Given the description of an element on the screen output the (x, y) to click on. 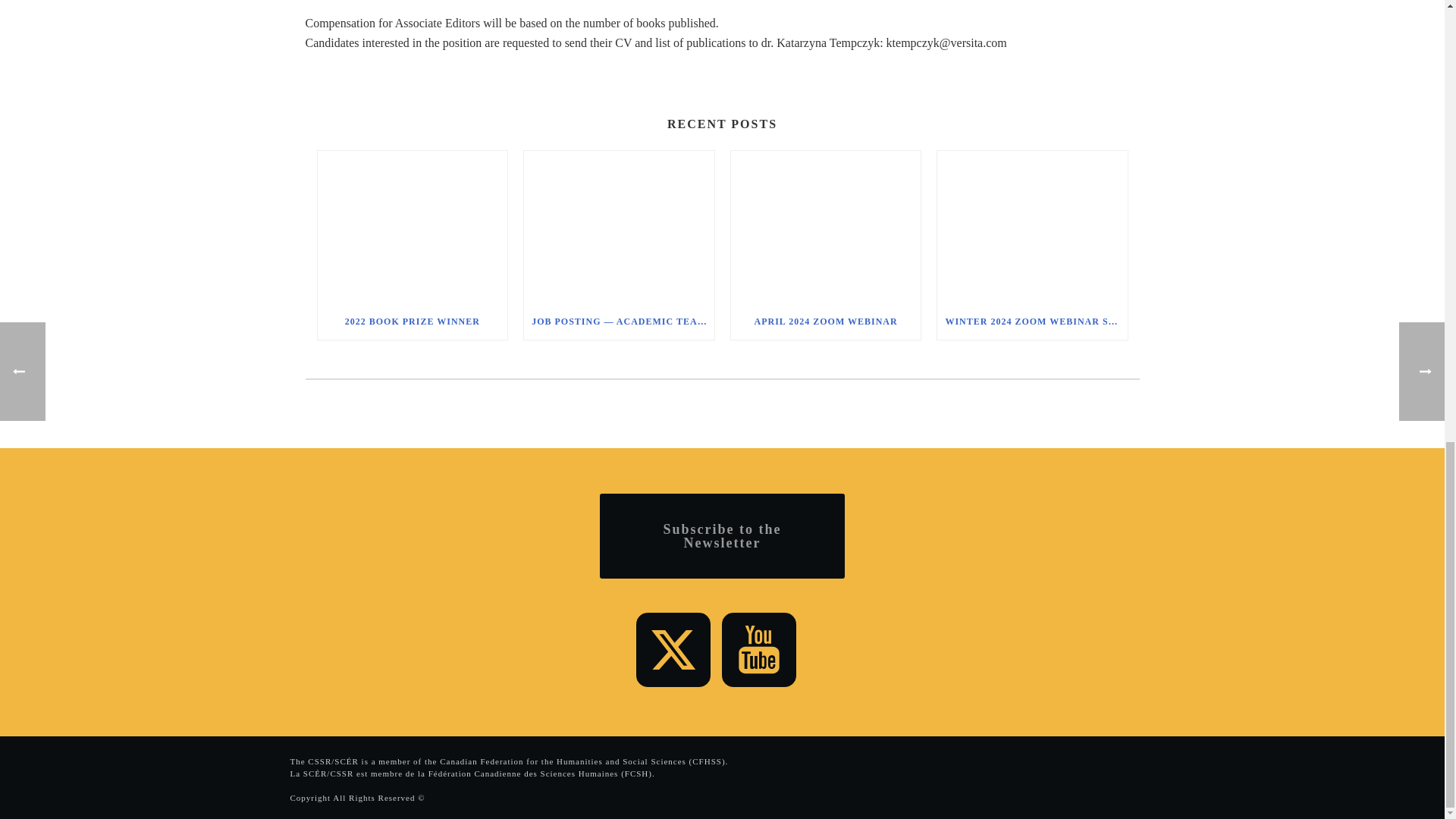
Winter 2024 Zoom Webinar Series (1031, 226)
April 2024 Zoom Webinar (825, 226)
2022 Book Prize Winner (411, 226)
Follow Us on youtube (759, 649)
Follow Us on twitter (673, 649)
Subscribe to the Newsletter (721, 535)
